Given the description of an element on the screen output the (x, y) to click on. 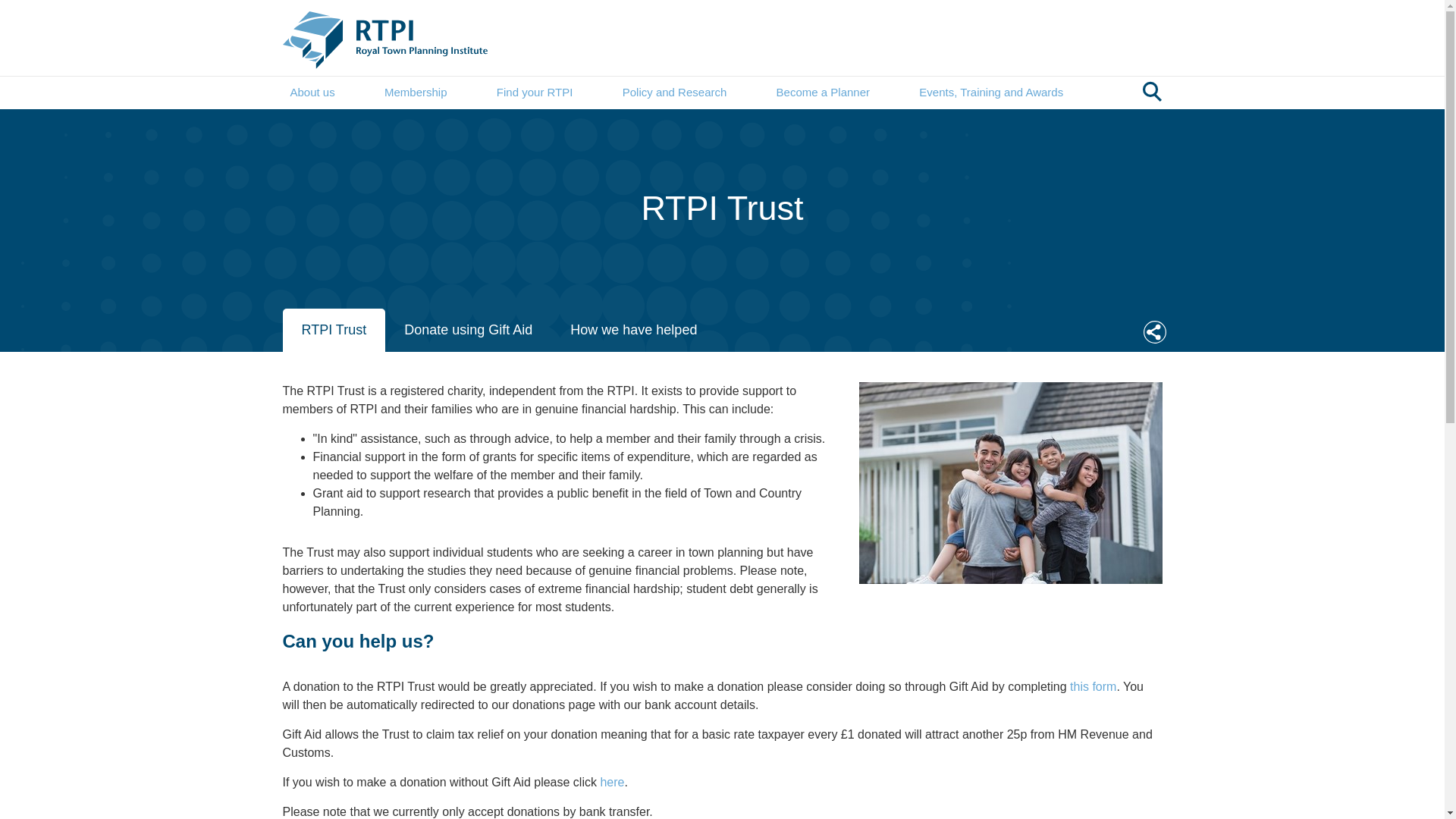
About us (311, 92)
Policy, Practice, and Research (674, 92)
Find your RTPI (534, 92)
Membership (415, 92)
Make your donation (611, 780)
About us (311, 92)
Events, Training and Awards (990, 92)
Membership (415, 92)
Find your RTPI (534, 92)
Gift Aid declaration (1093, 685)
